Given the description of an element on the screen output the (x, y) to click on. 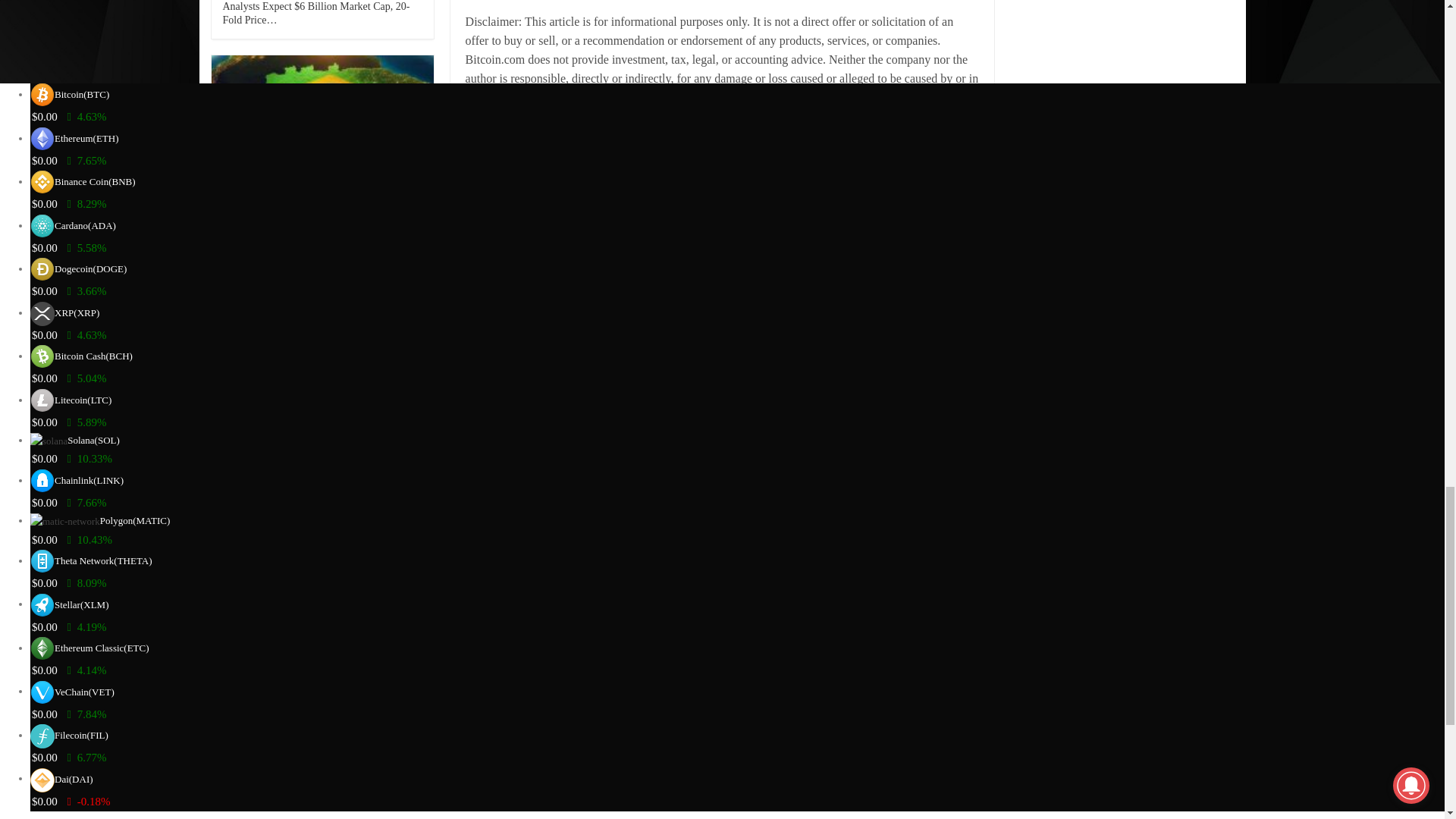
Next (526, 592)
0 (962, 203)
BLOCKCHAIN (499, 498)
Previous (484, 592)
Twitter (612, 202)
Source link (493, 154)
ReddIt (668, 202)
Facebook (552, 202)
Digibyte Cryptocurrency and Blockchain: DGB Coin Analysis (571, 312)
